Given the description of an element on the screen output the (x, y) to click on. 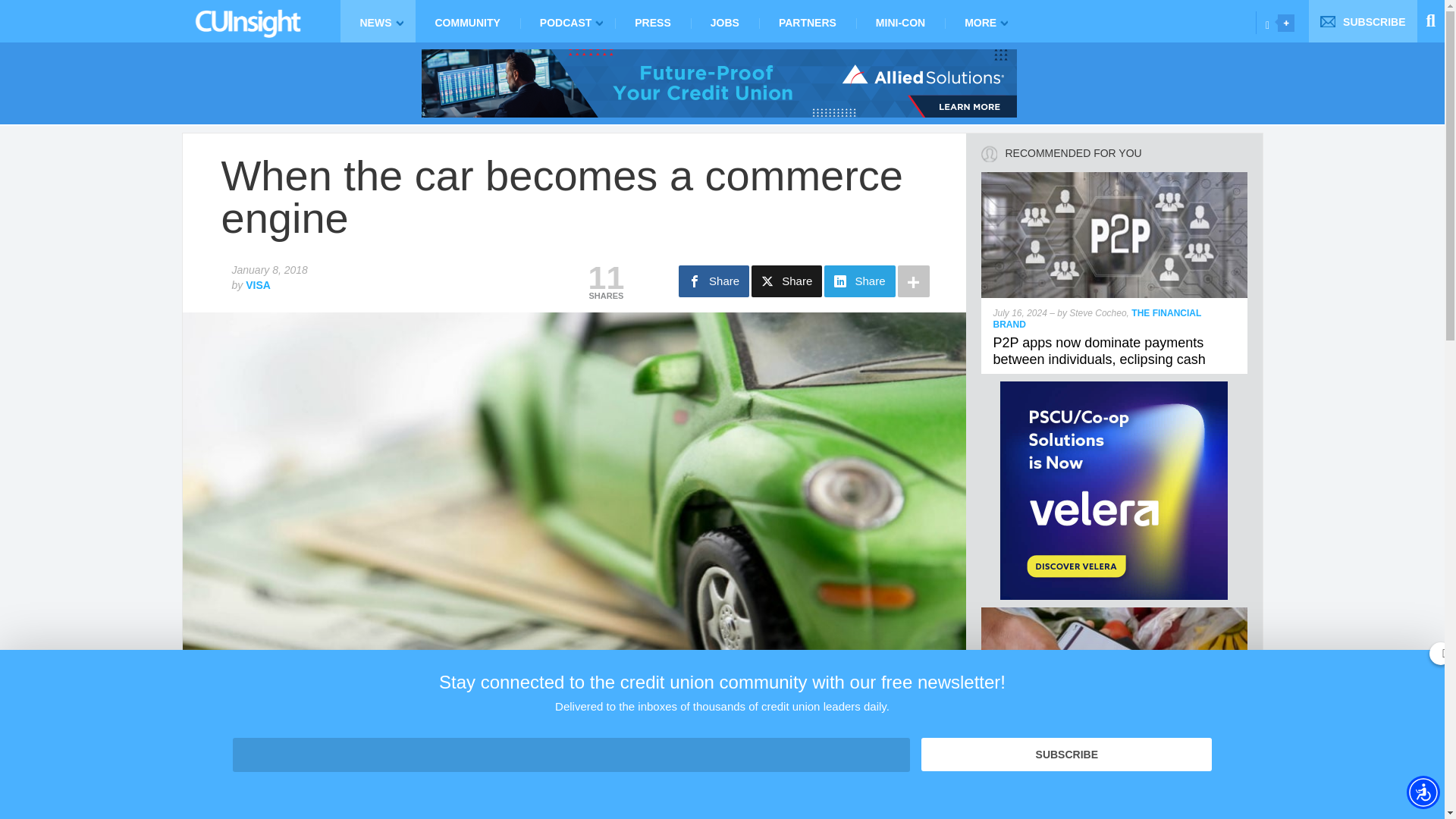
NEWS (376, 21)
JOBS (724, 21)
SUBSCRIBE (1362, 21)
PODCAST (566, 21)
Opener (1286, 22)
Subscribe (1066, 754)
VISA (258, 285)
Share (786, 281)
MINI-CON (900, 21)
PARTNERS (807, 21)
Share (713, 281)
COMMUNITY (466, 21)
Accessibility Menu (1422, 792)
